Given the description of an element on the screen output the (x, y) to click on. 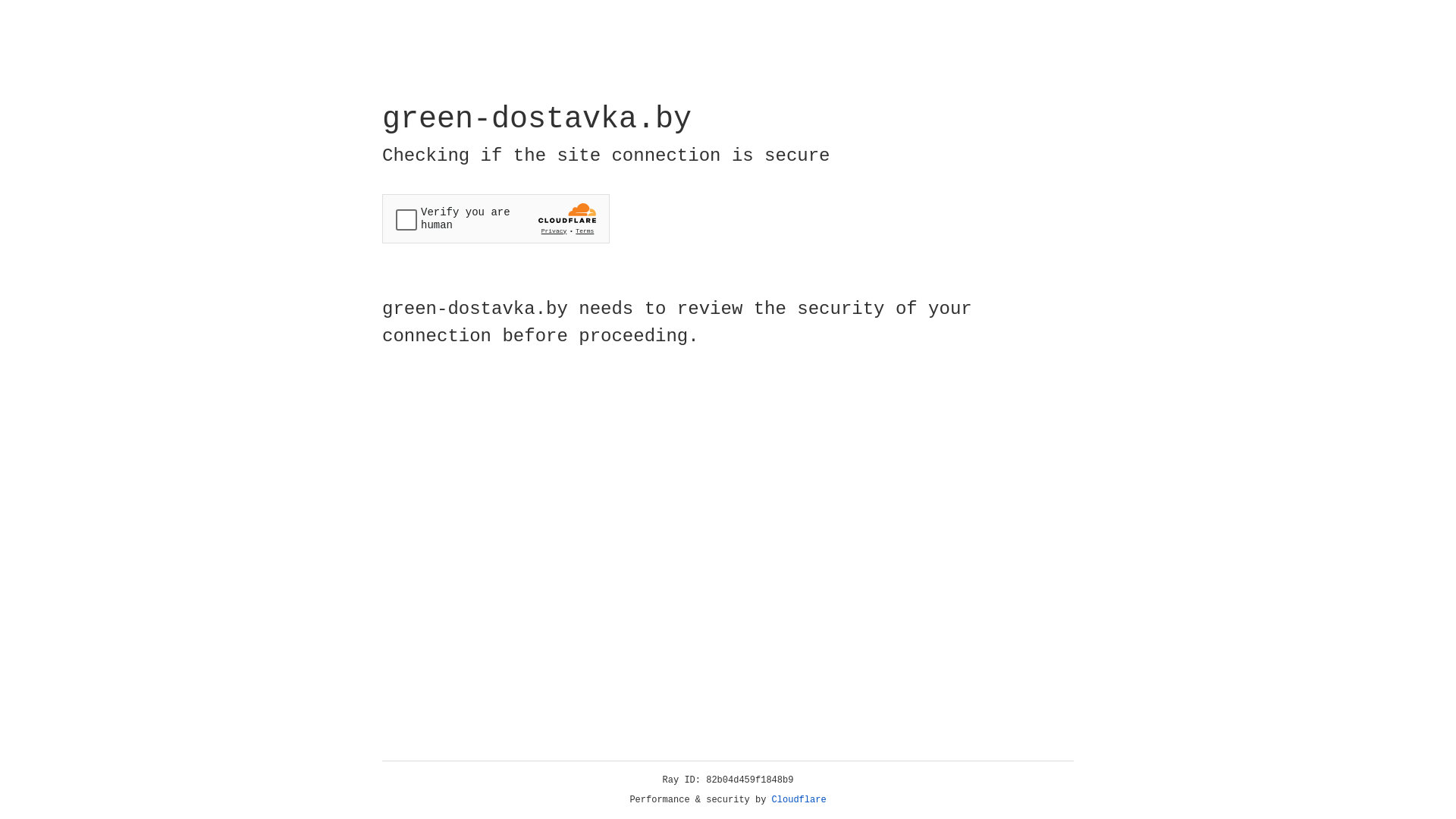
Cloudflare Element type: text (798, 799)
Widget containing a Cloudflare security challenge Element type: hover (495, 218)
